Given the description of an element on the screen output the (x, y) to click on. 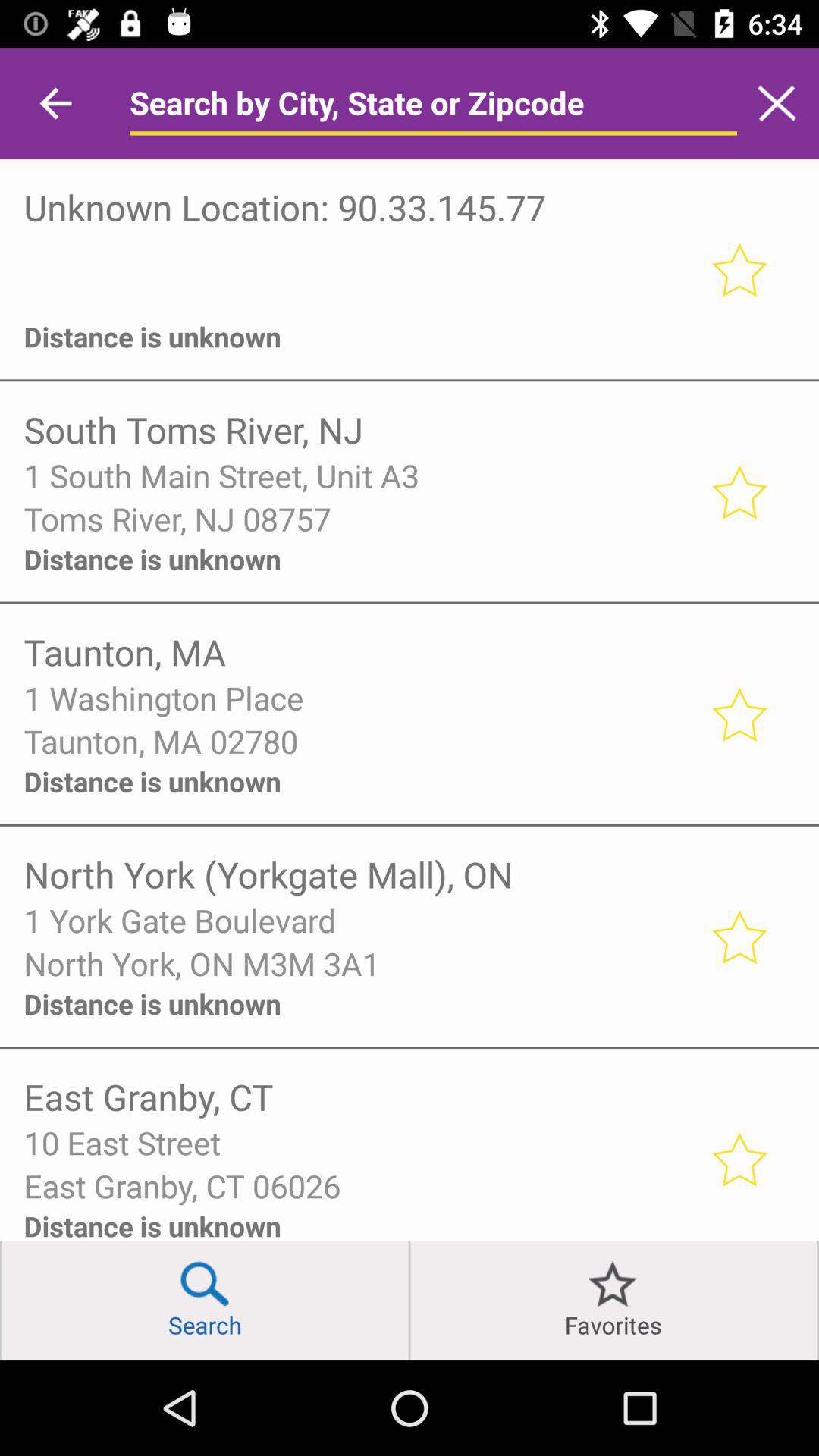
like selection (738, 713)
